Given the description of an element on the screen output the (x, y) to click on. 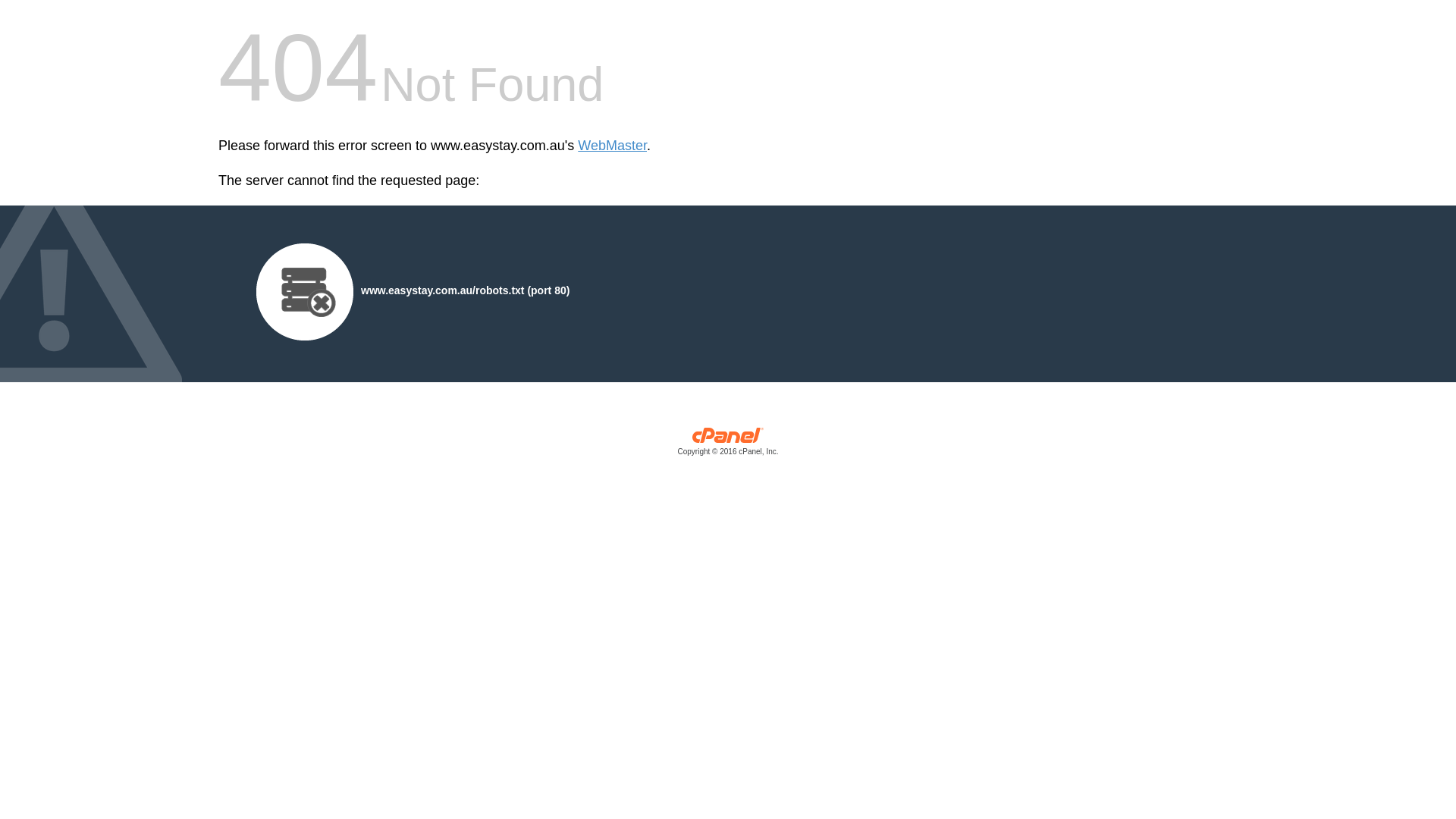
WebMaster Element type: text (611, 145)
